Given the description of an element on the screen output the (x, y) to click on. 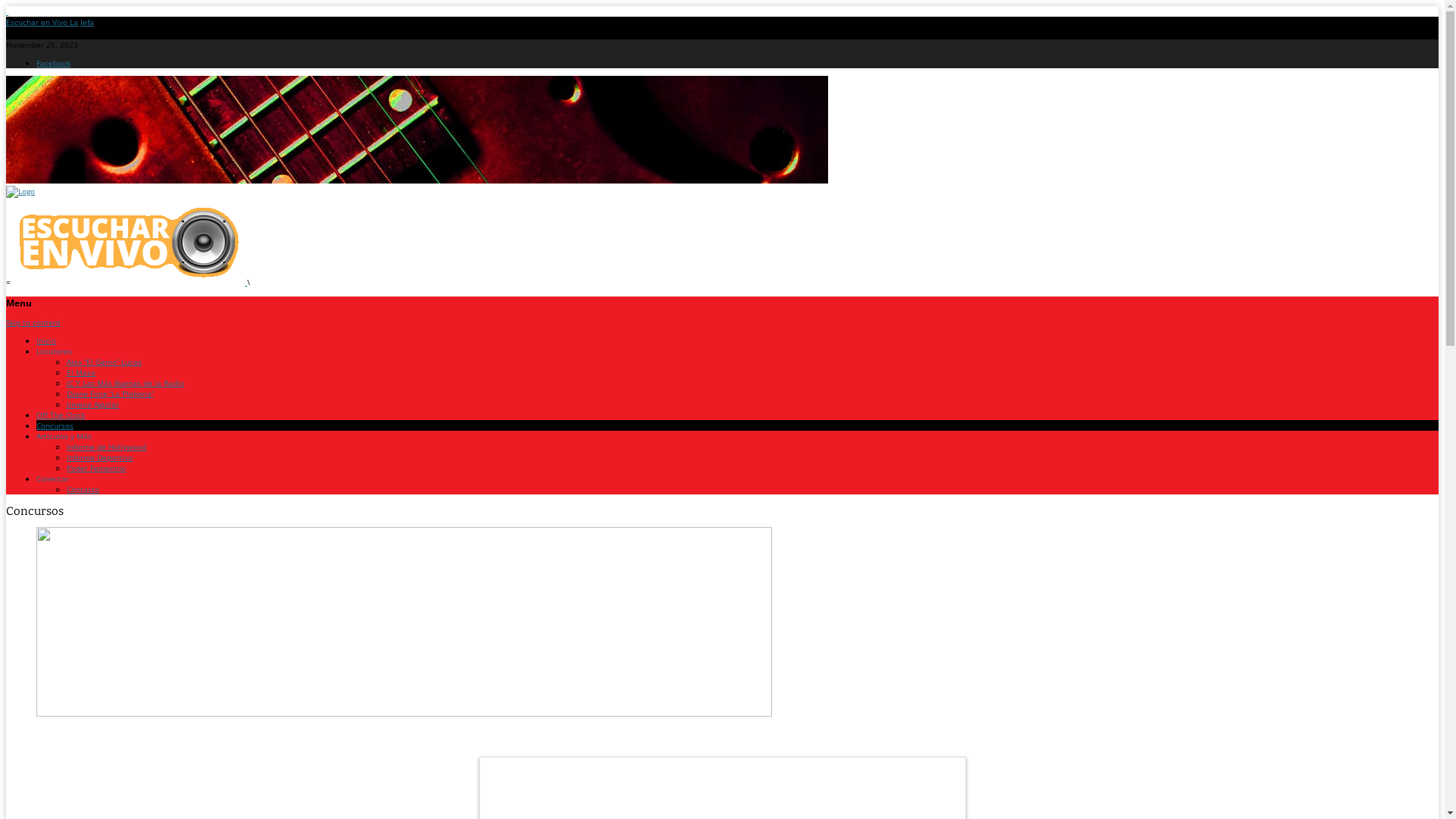
Informe Deportivo Element type: text (99, 456)
Escuchar en Vivo La Jefa Element type: text (50, 21)
Facebook Element type: text (53, 62)
Off The Clock Element type: text (60, 414)
Jimena Aguilar Element type: text (92, 403)
Concursos Element type: text (54, 425)
  Element type: text (7, 11)
Locutores Element type: text (54, 350)
Poder Femenino Element type: text (95, 467)
Conectar Element type: text (52, 478)
Informe de Hollywood Element type: text (106, 446)
El Maza Element type: text (80, 372)
Contacto Element type: text (82, 488)
Skip to content Element type: text (33, 321)
Inicio Element type: text (46, 340)
